Given the description of an element on the screen output the (x, y) to click on. 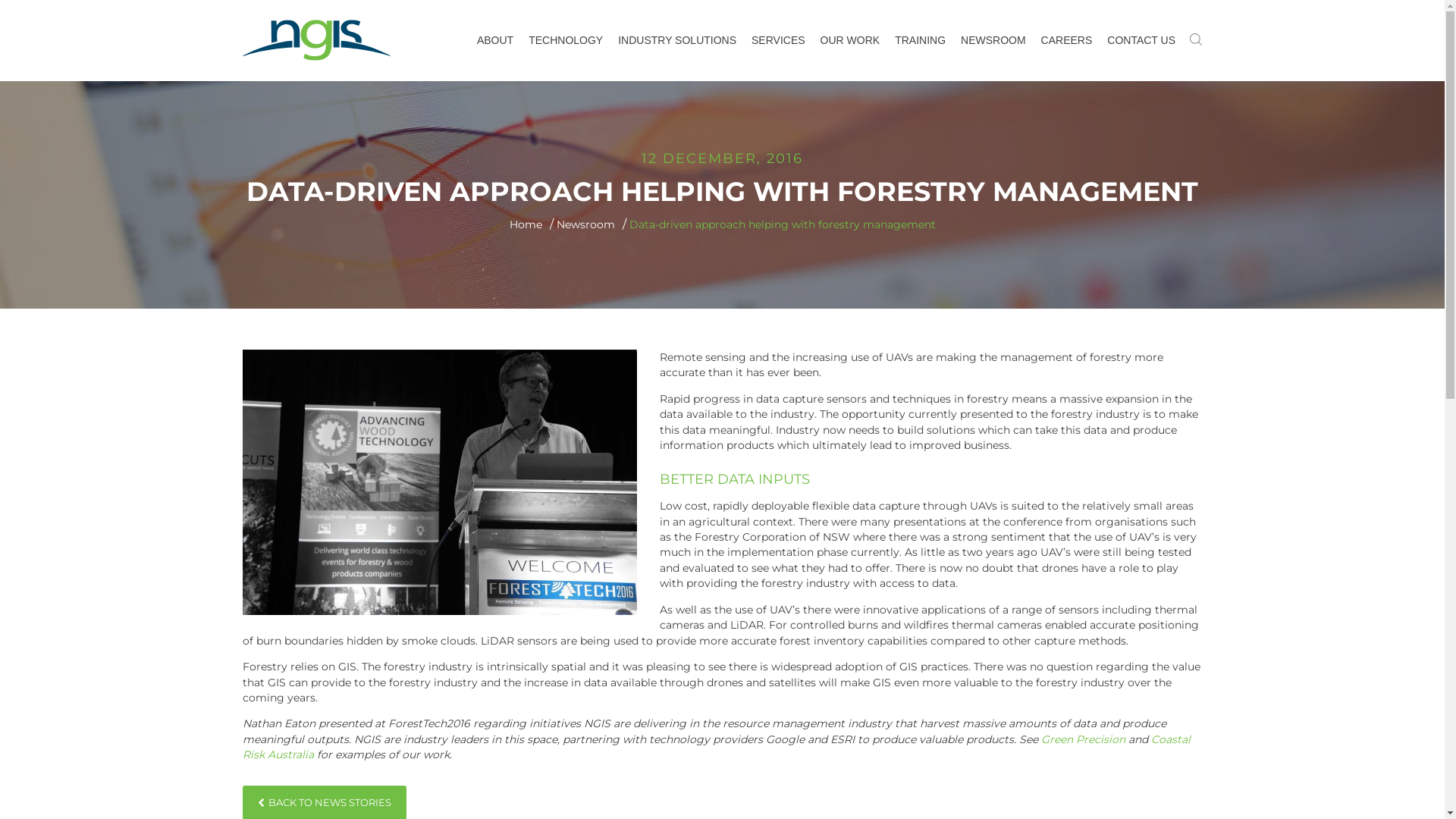
NEWSROOM Element type: text (993, 40)
INDUSTRY SOLUTIONS Element type: text (676, 40)
Newsroom Element type: text (585, 224)
ABOUT Element type: text (494, 40)
Green Precision Element type: text (1083, 739)
TECHNOLOGY Element type: text (565, 40)
CONTACT US Element type: text (1141, 40)
Search Element type: text (493, 9)
OUR WORK Element type: text (850, 40)
SERVICES Element type: text (777, 40)
Coastal Risk Australia Element type: text (716, 746)
Home Element type: text (525, 224)
CAREERS Element type: text (1066, 40)
TRAINING Element type: text (920, 40)
